Given the description of an element on the screen output the (x, y) to click on. 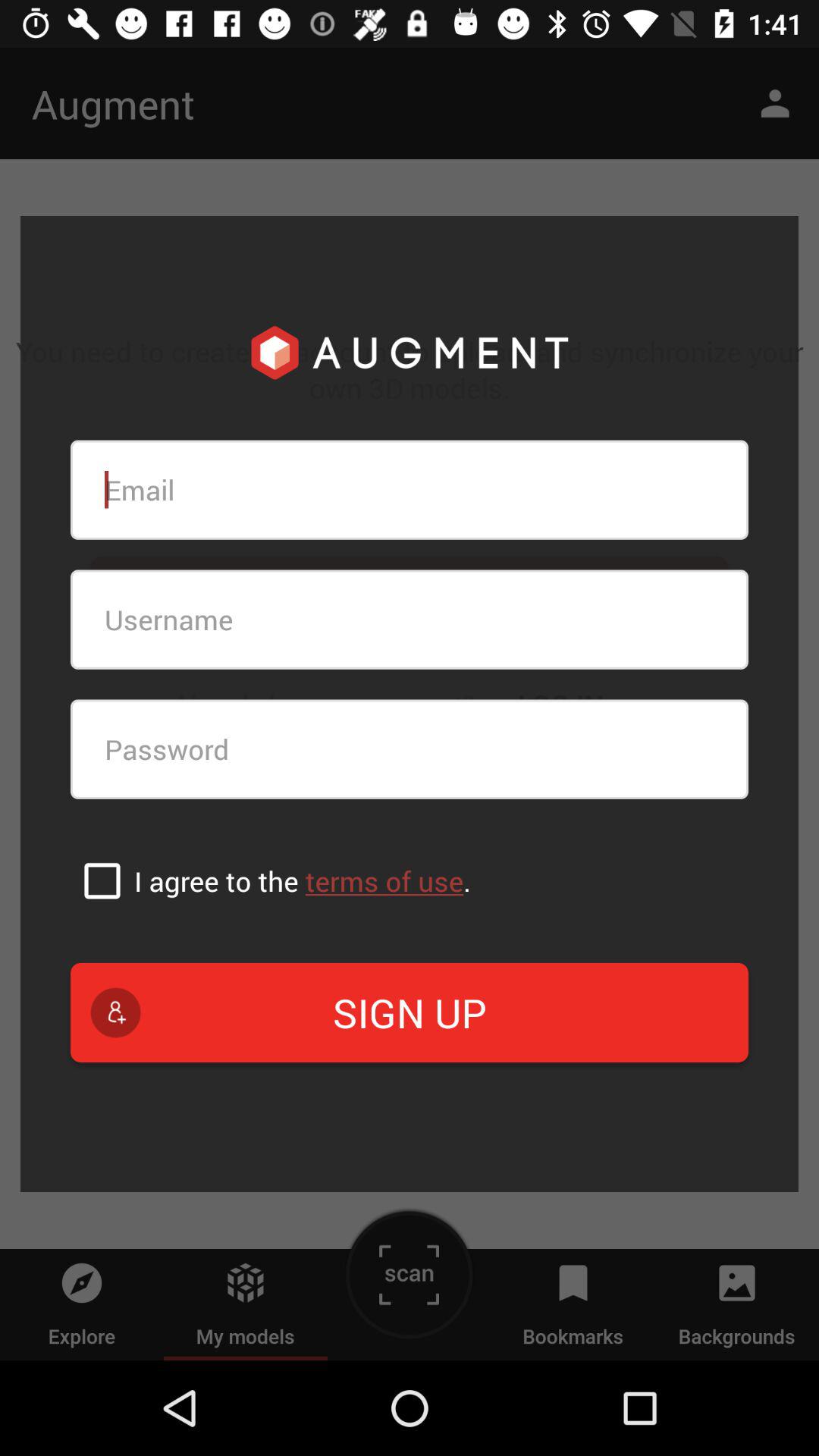
select icon above sign up item (102, 880)
